Given the description of an element on the screen output the (x, y) to click on. 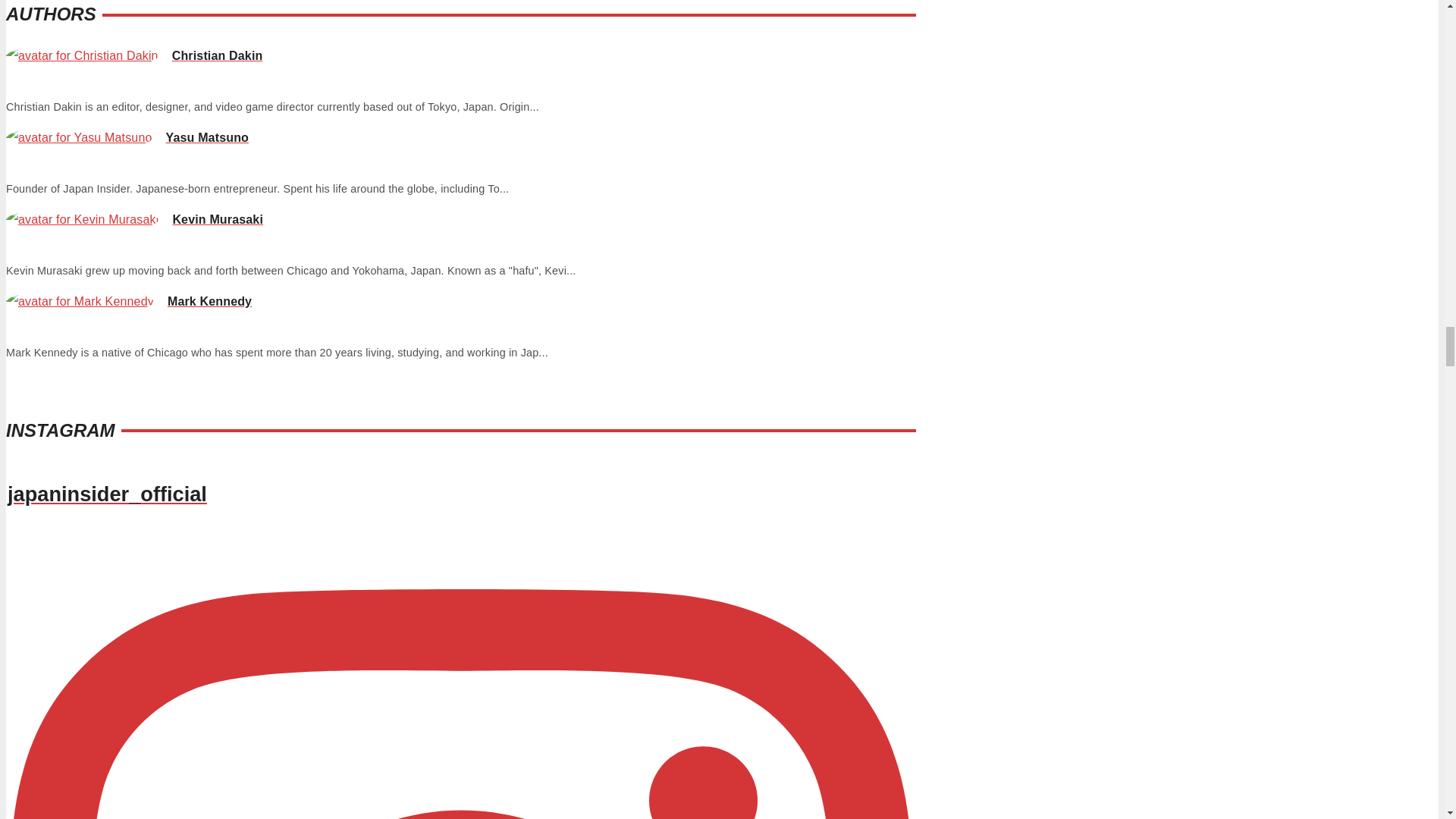
Kevin Murasaki (134, 219)
Mark Kennedy (128, 300)
Yasu Matsuno (126, 137)
Kevin Murasaki (134, 219)
Christian Dakin (133, 55)
Mark Kennedy (128, 300)
Yasu Matsuno (126, 137)
Christian Dakin (133, 55)
